Given the description of an element on the screen output the (x, y) to click on. 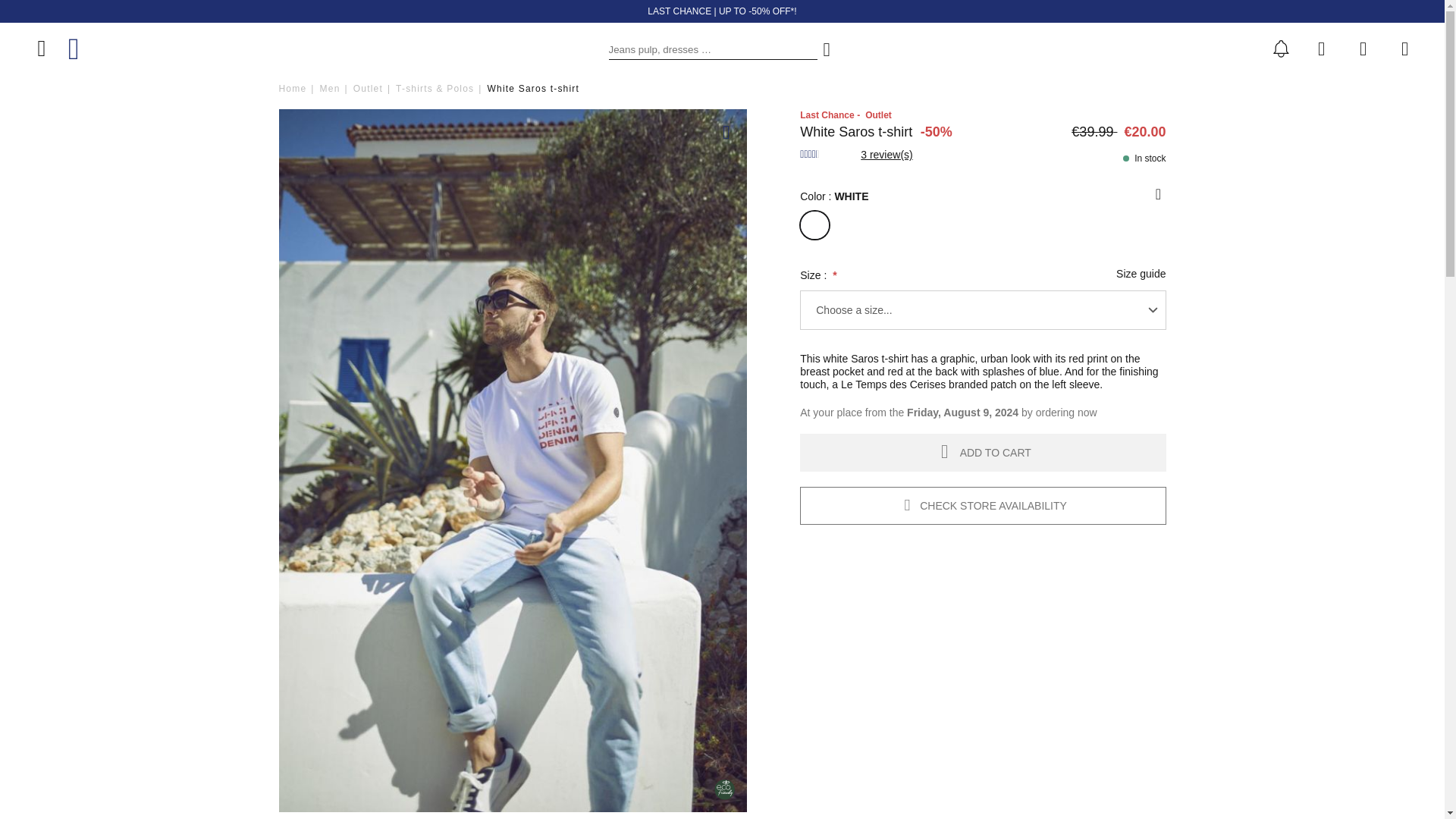
Store Locator (1323, 47)
Add to Cart (982, 452)
Le Temps des Cerises (94, 48)
Go to Home Page (293, 88)
Availability (1144, 158)
My Cart (1403, 47)
My Account (1363, 47)
Search (825, 48)
